Given the description of an element on the screen output the (x, y) to click on. 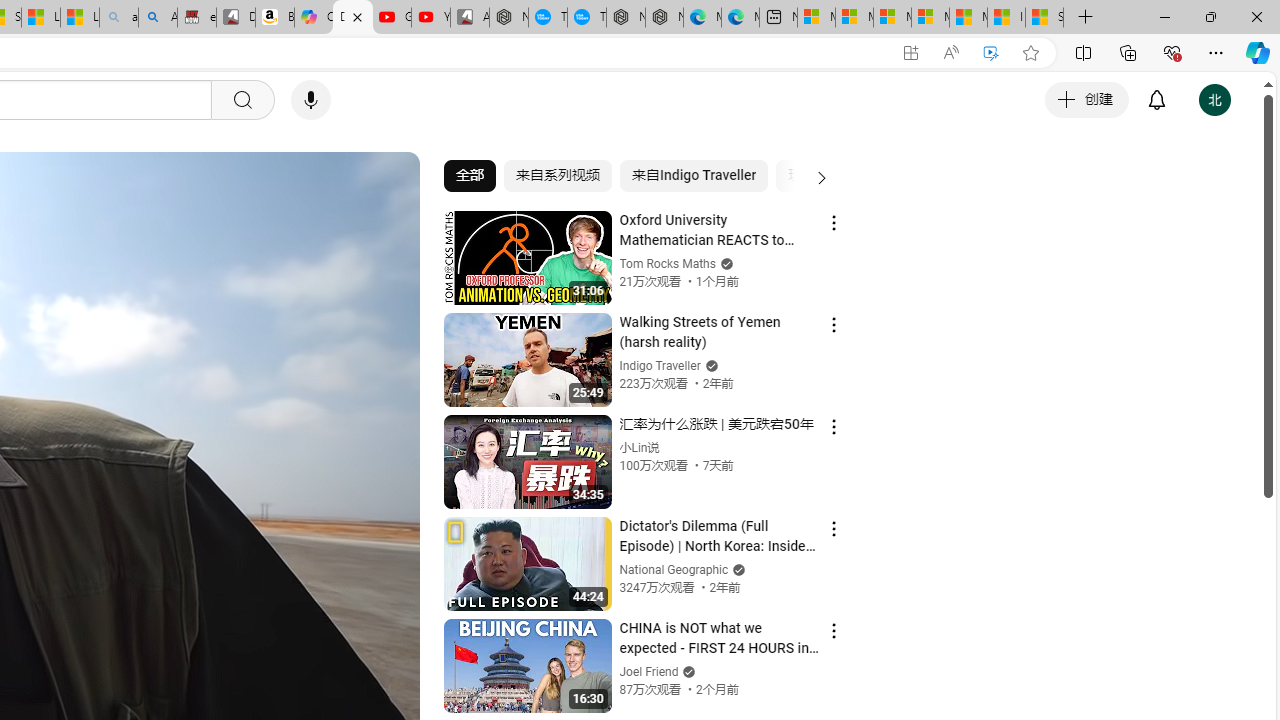
Microsoft account | Privacy (929, 17)
App available. Install YouTube (910, 53)
All Cubot phones (469, 17)
Microsoft account | Microsoft Account Privacy Settings (853, 17)
Day 1: Arriving in Yemen (surreal to be here) - YouTube (353, 17)
Nordace - Nordace has arrived Hong Kong (664, 17)
